Given the description of an element on the screen output the (x, y) to click on. 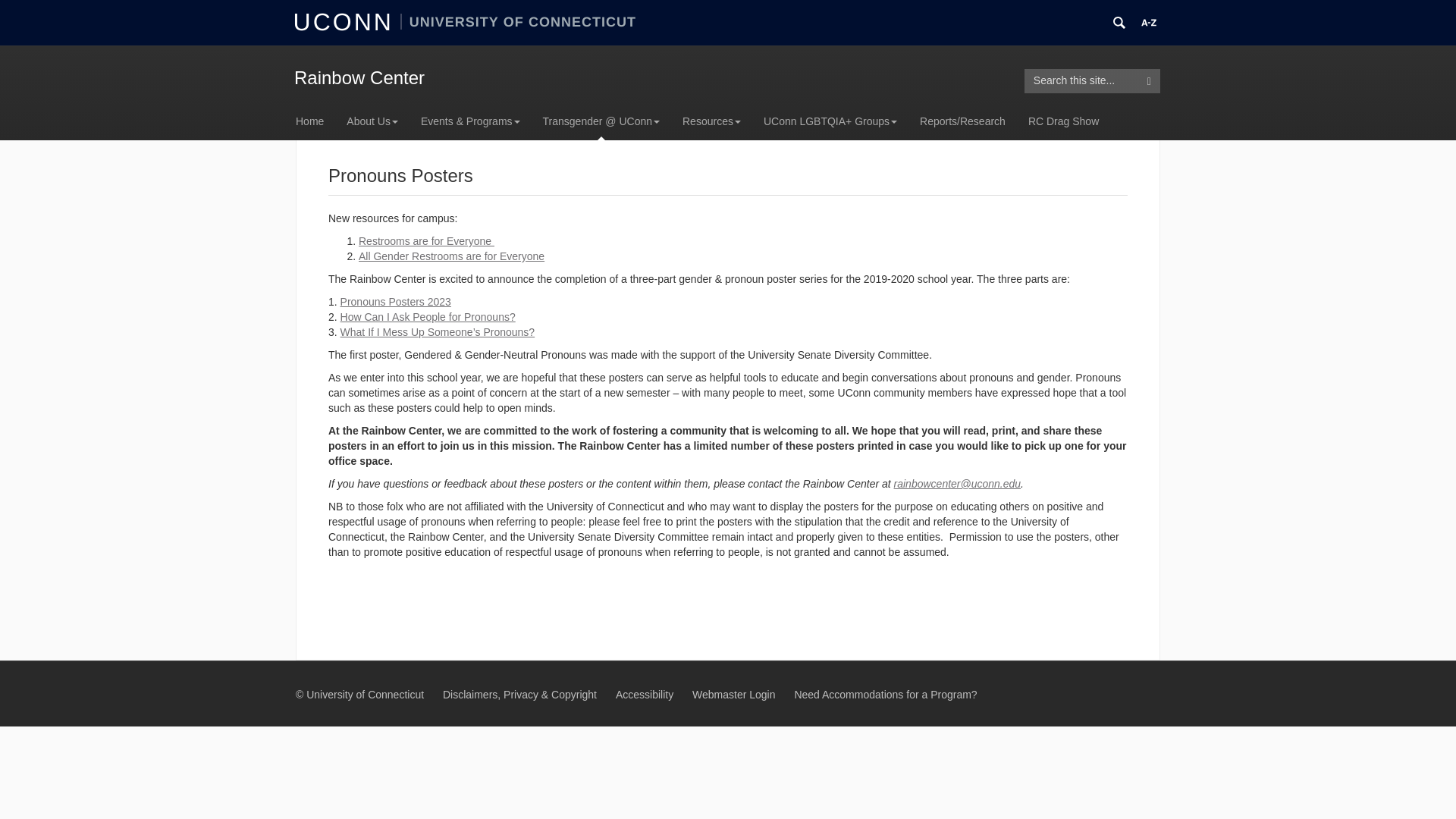
UCONN (347, 21)
About Us (371, 121)
Search UConn (1118, 22)
Search (1149, 80)
UNIVERSITY OF CONNECTICUT (518, 21)
Search this site...  (1081, 80)
Rainbow Center (359, 77)
Home (314, 121)
Search (1149, 80)
